Given the description of an element on the screen output the (x, y) to click on. 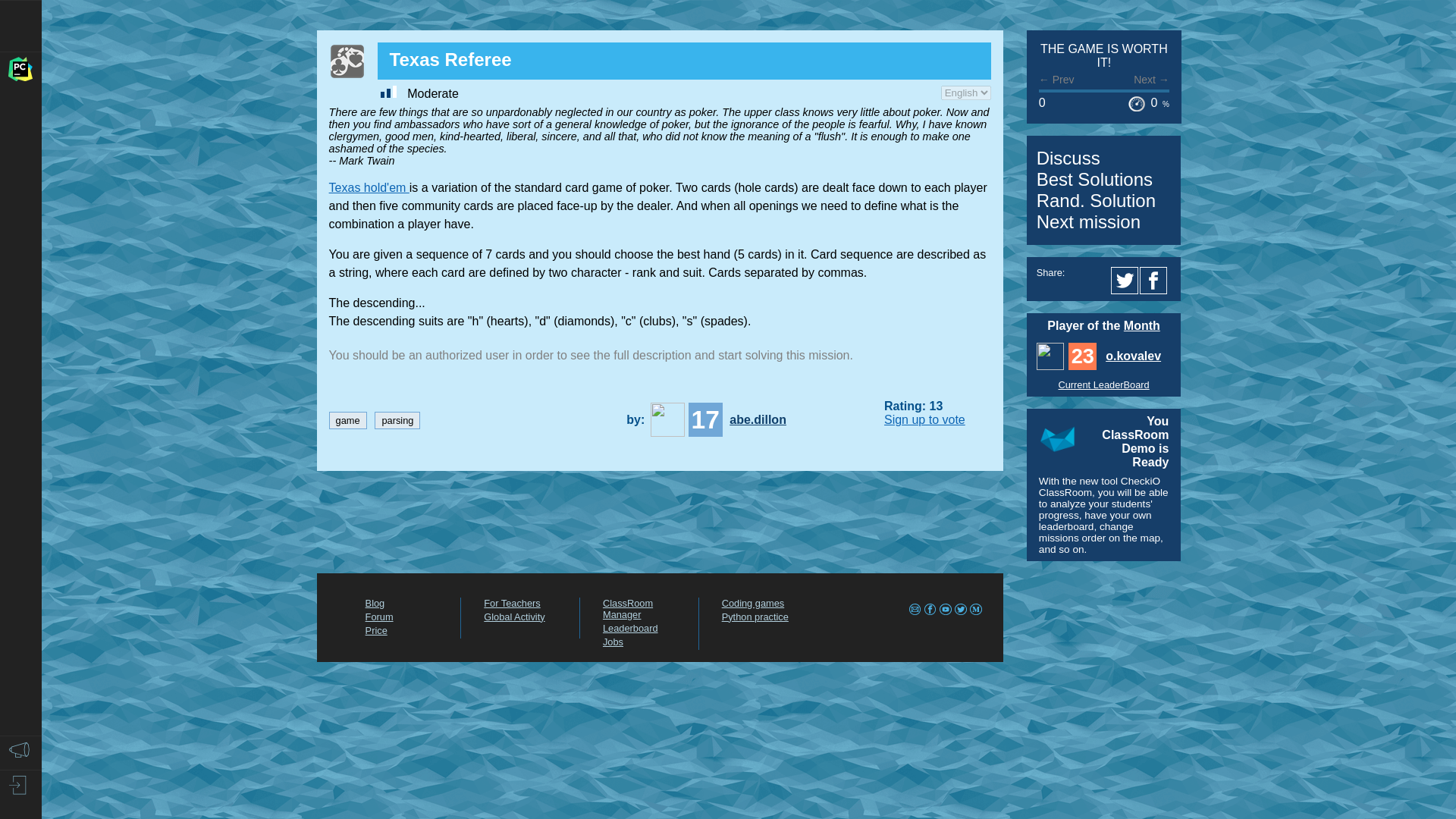
parsing (397, 420)
Facebook (1156, 280)
Twitter (1125, 280)
Review solutions for this mission (1096, 200)
abe.dillon (667, 419)
abe.dillon (759, 419)
parsing (397, 420)
The Game is Worth it! (1104, 55)
Go to next recommended mission (1088, 221)
o.kovalev (1050, 357)
